Given the description of an element on the screen output the (x, y) to click on. 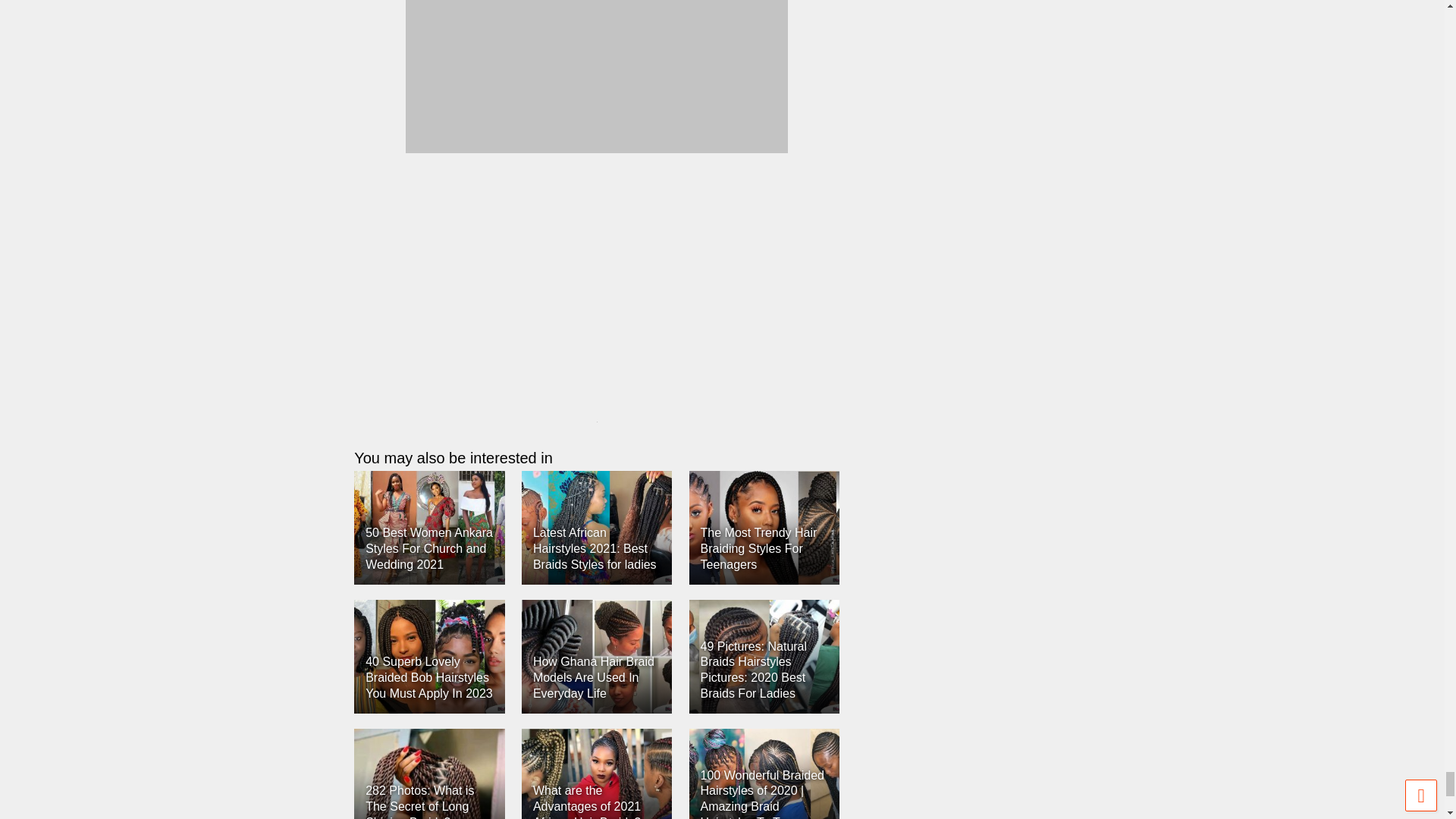
50 Best Women Ankara Styles For Church and Wedding 2021 (429, 548)
50 Best Women Ankara Styles For Church and Wedding 2021 (428, 527)
